Given the description of an element on the screen output the (x, y) to click on. 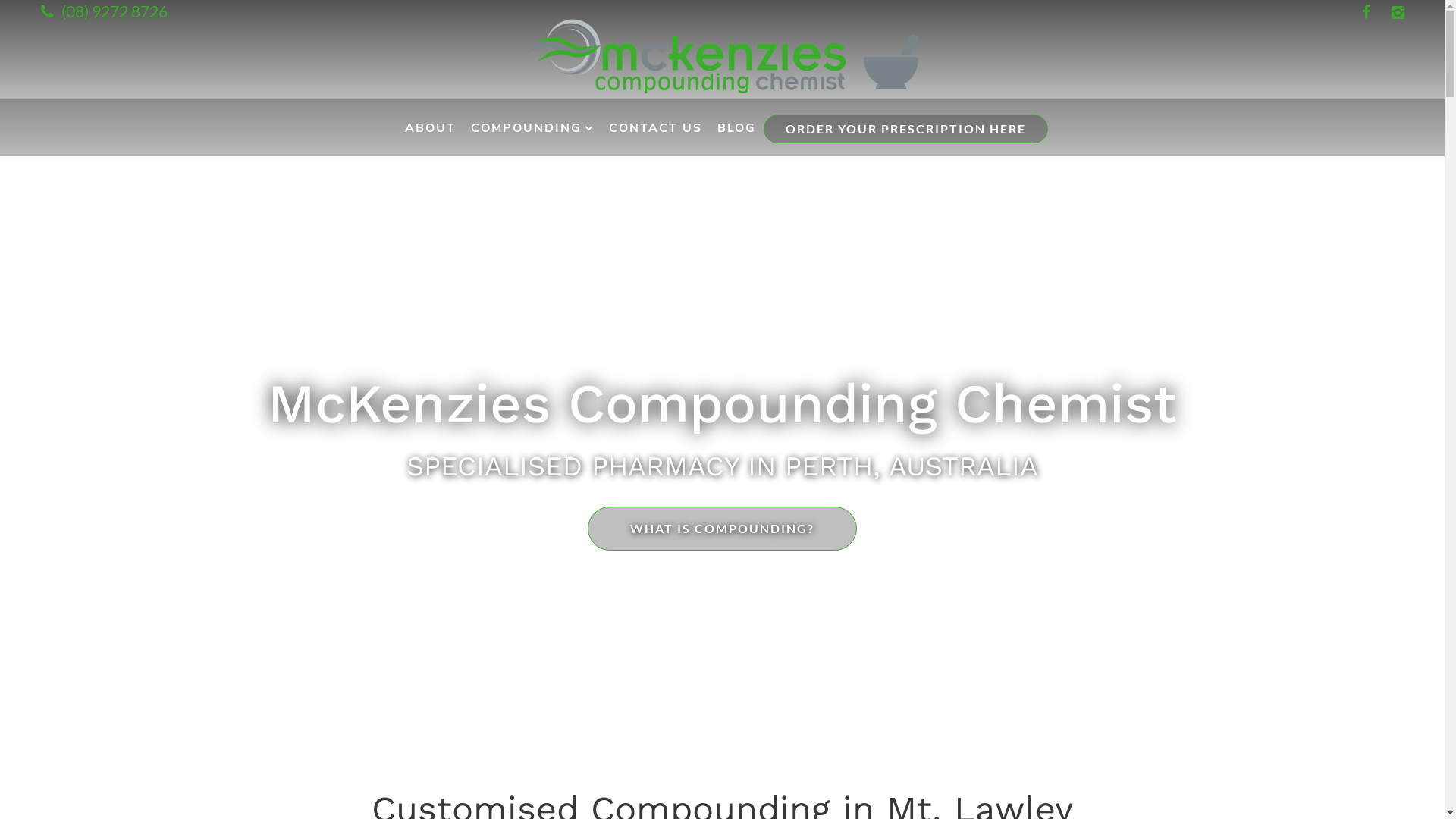
CONTACT US Element type: text (654, 127)
COMPOUNDING Element type: text (531, 127)
ABOUT Element type: text (429, 127)
WHAT IS COMPOUNDING? Element type: text (721, 528)
BLOG Element type: text (736, 127)
ORDER YOUR PRESCRIPTION HERE Element type: text (904, 127)
(08) 9272 8726 Element type: text (101, 10)
